Given the description of an element on the screen output the (x, y) to click on. 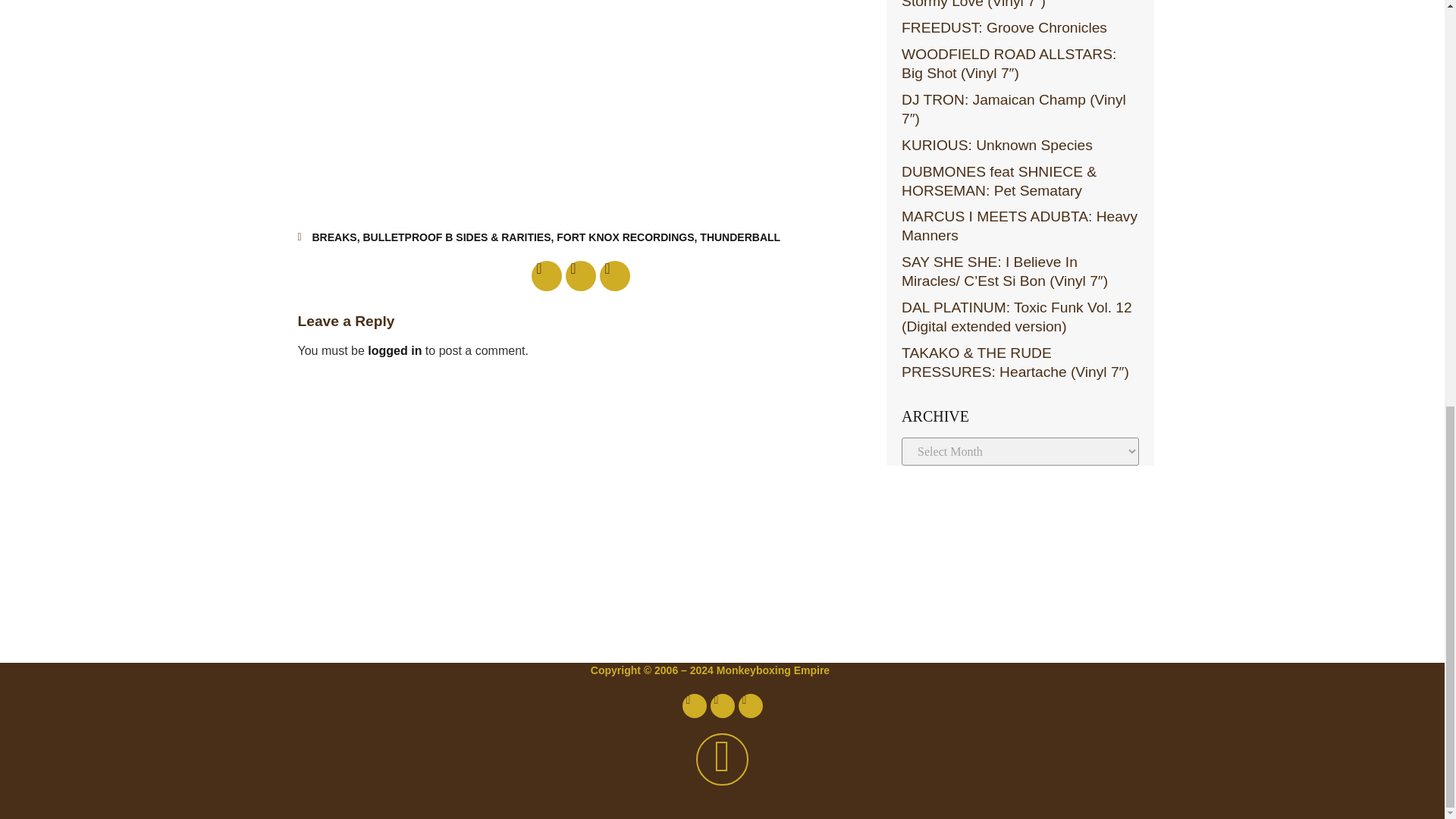
THUNDERBALL (740, 236)
BREAKS (334, 236)
FORT KNOX RECORDINGS (625, 236)
